Given the description of an element on the screen output the (x, y) to click on. 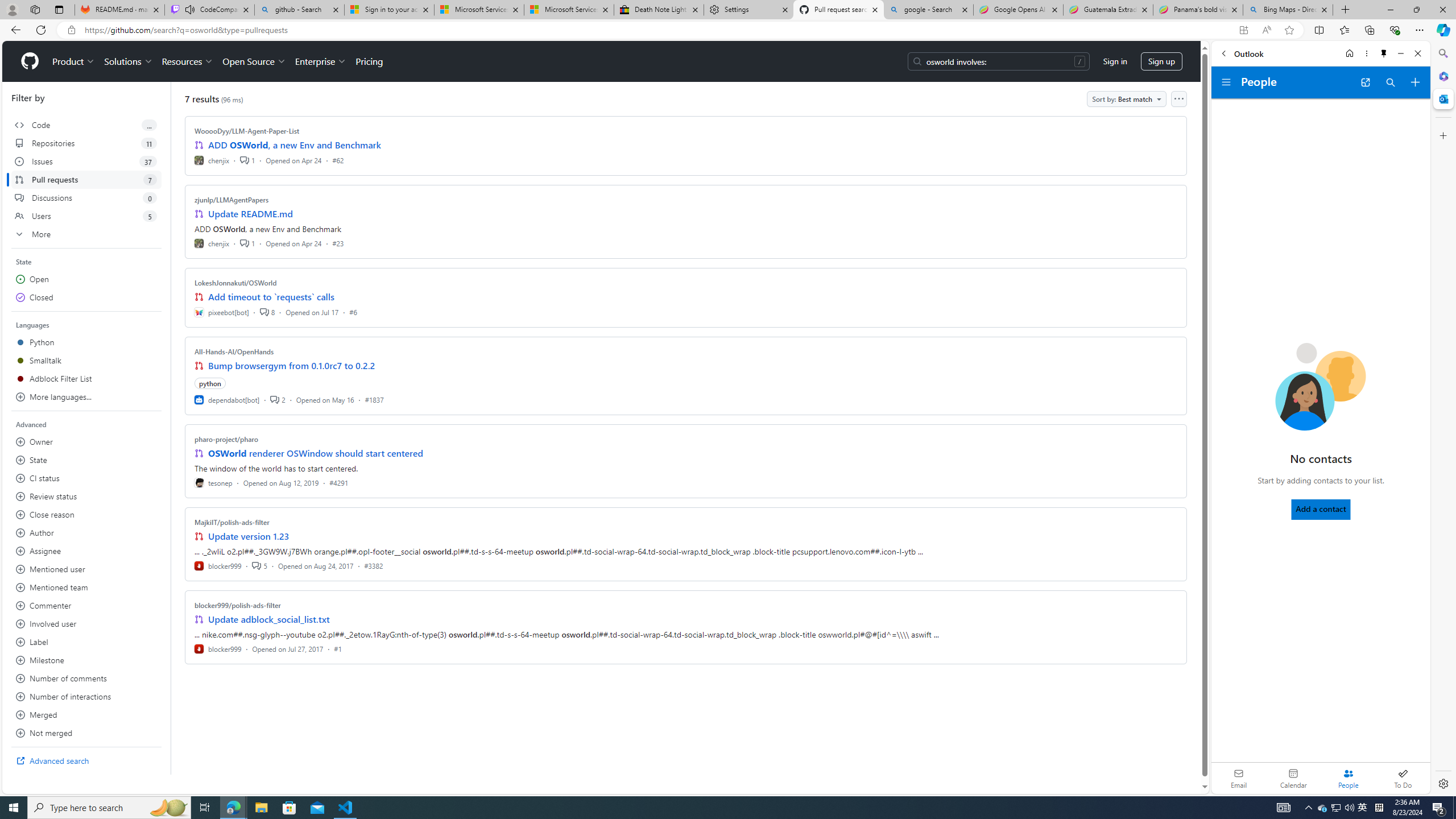
Open Source (254, 60)
All-Hands-AI/OpenHands (234, 351)
Open Source (254, 60)
Add a contact (1321, 509)
blocker999 (218, 648)
#62 (337, 159)
App available. Install GitHub (1243, 29)
pixeebot[bot] (221, 311)
1 (246, 242)
